Given the description of an element on the screen output the (x, y) to click on. 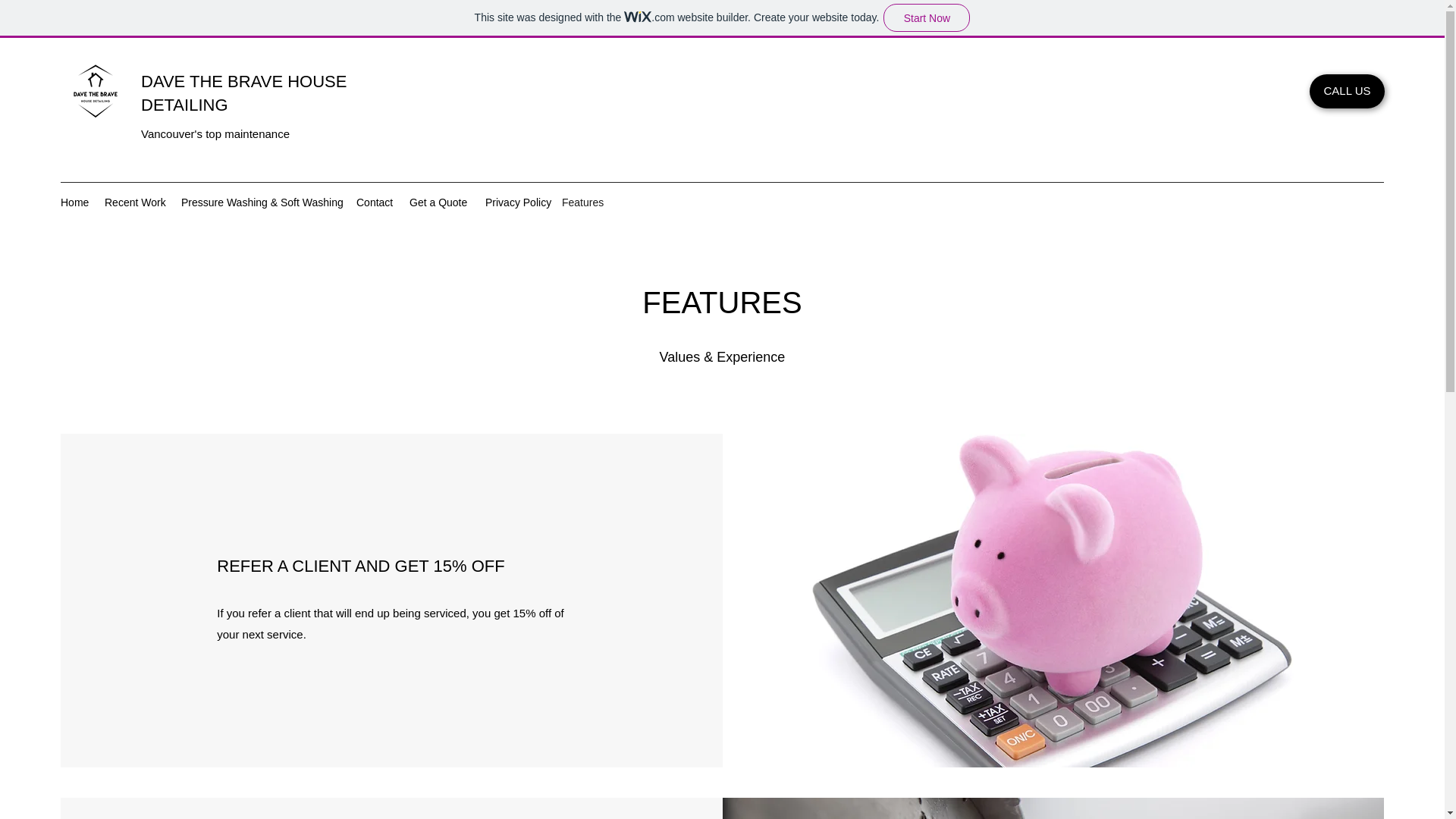
Recent Work (135, 201)
Privacy Policy (515, 201)
Features (582, 201)
DAVE THE BRAVE HOUSE DETAILING (243, 93)
Get a Quote (439, 201)
Contact (375, 201)
Home (74, 201)
CALL US (1346, 91)
